Given the description of an element on the screen output the (x, y) to click on. 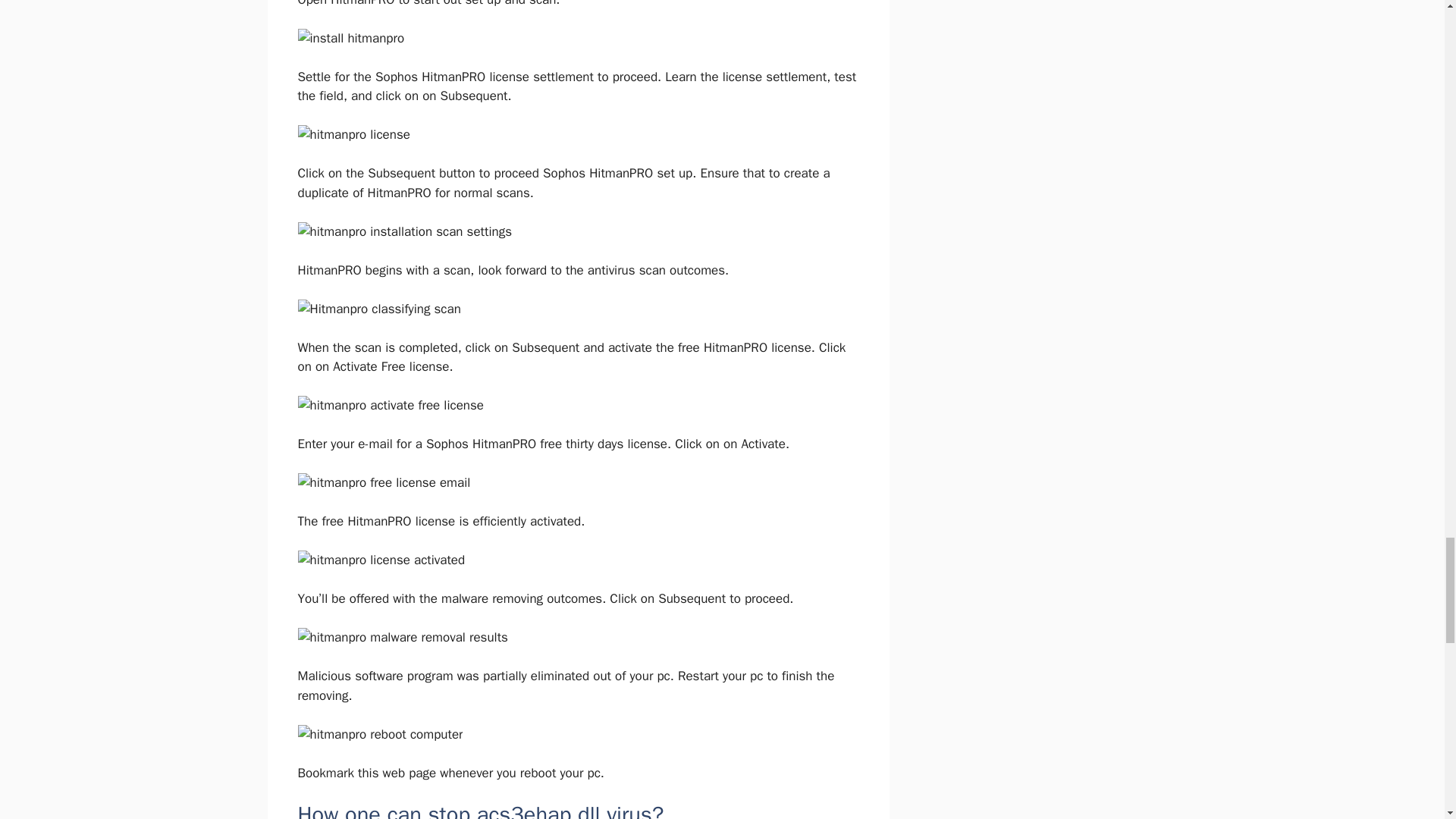
How to remove acs3ehap.dll 7 (378, 309)
How to remove acs3ehap.dll 9 (383, 483)
How to remove acs3ehap.dll 6 (404, 231)
How to remove acs3ehap.dll 10 (380, 560)
How to remove acs3ehap.dll 11 (401, 637)
How to remove acs3ehap.dll 5 (353, 134)
How to remove acs3ehap.dll 8 (390, 405)
How to remove acs3ehap.dll 4 (350, 38)
How to remove acs3ehap.dll 12 (380, 734)
